Given the description of an element on the screen output the (x, y) to click on. 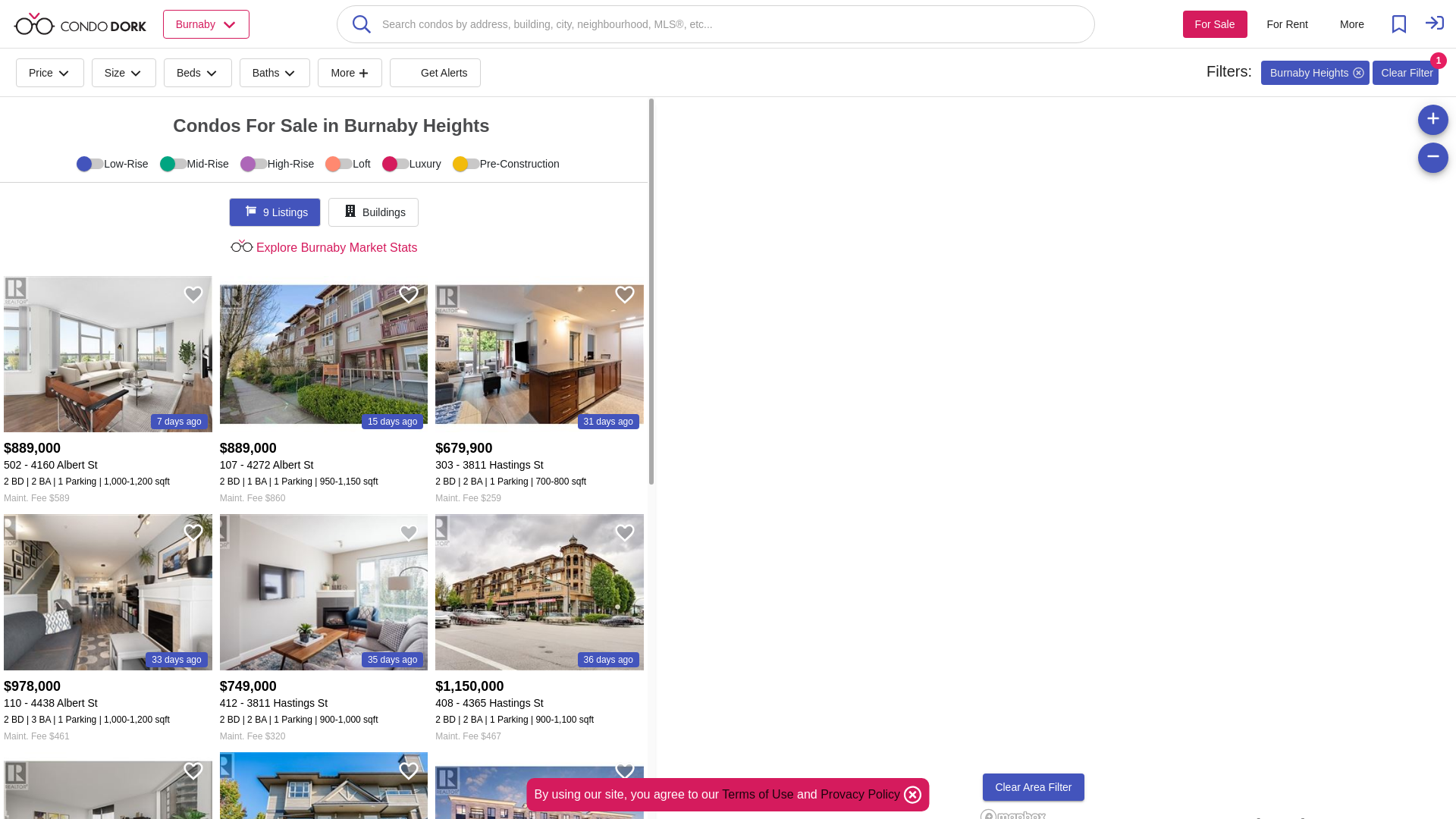
Provacy Policy (861, 793)
Beds (197, 71)
Price (50, 71)
Buildings (374, 212)
More (349, 71)
Baths (275, 71)
Terms of Use (757, 793)
Burnaby (205, 23)
More (1351, 23)
Size (123, 71)
For Rent (1287, 23)
